Given the description of an element on the screen output the (x, y) to click on. 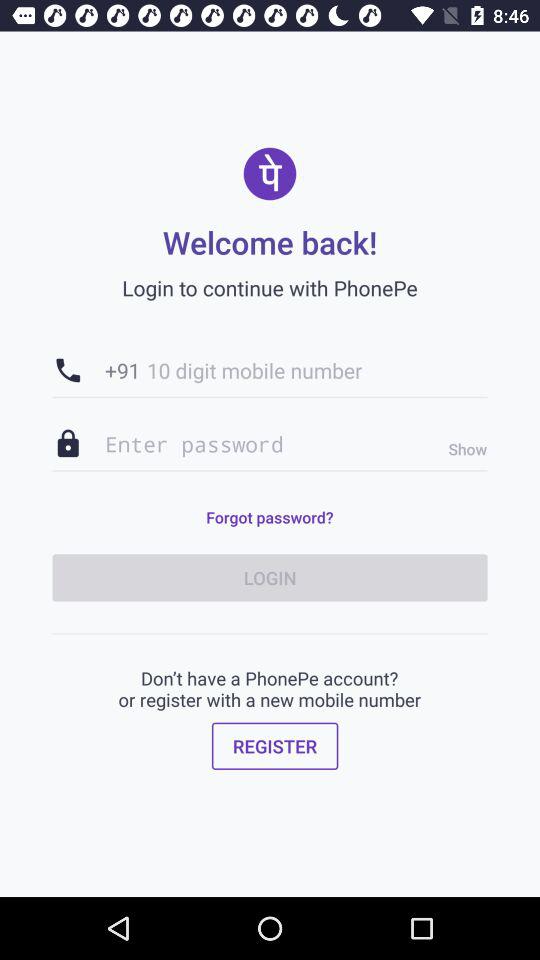
press show on the right (462, 449)
